Given the description of an element on the screen output the (x, y) to click on. 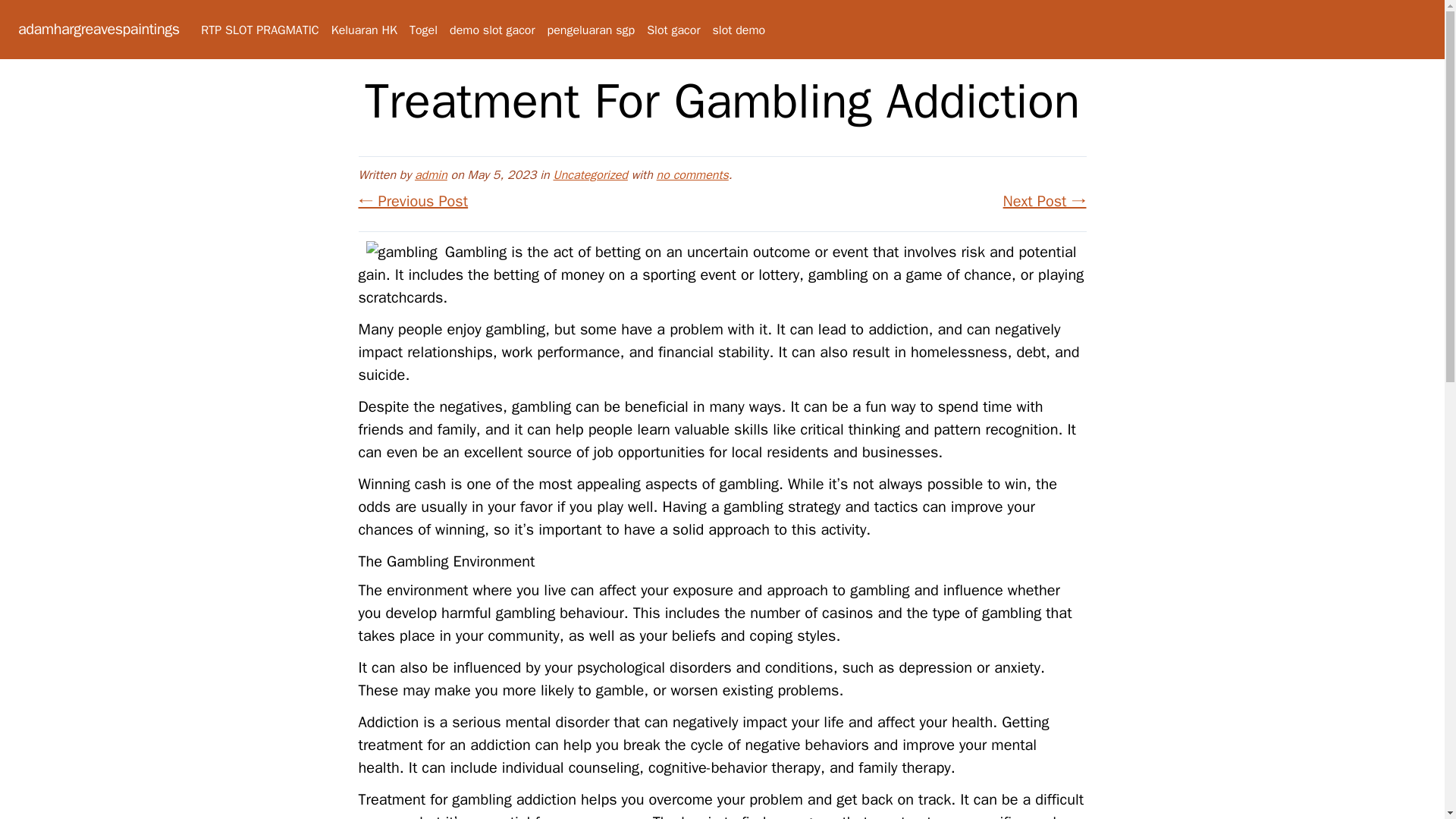
Togel (423, 30)
Uncategorized (590, 174)
no comments (692, 174)
pengeluaran sgp (590, 30)
Slot gacor (673, 30)
RTP SLOT PRAGMATIC (259, 30)
no comments (692, 174)
admin (430, 174)
Keluaran HK (364, 30)
demo slot gacor (491, 30)
